Given the description of an element on the screen output the (x, y) to click on. 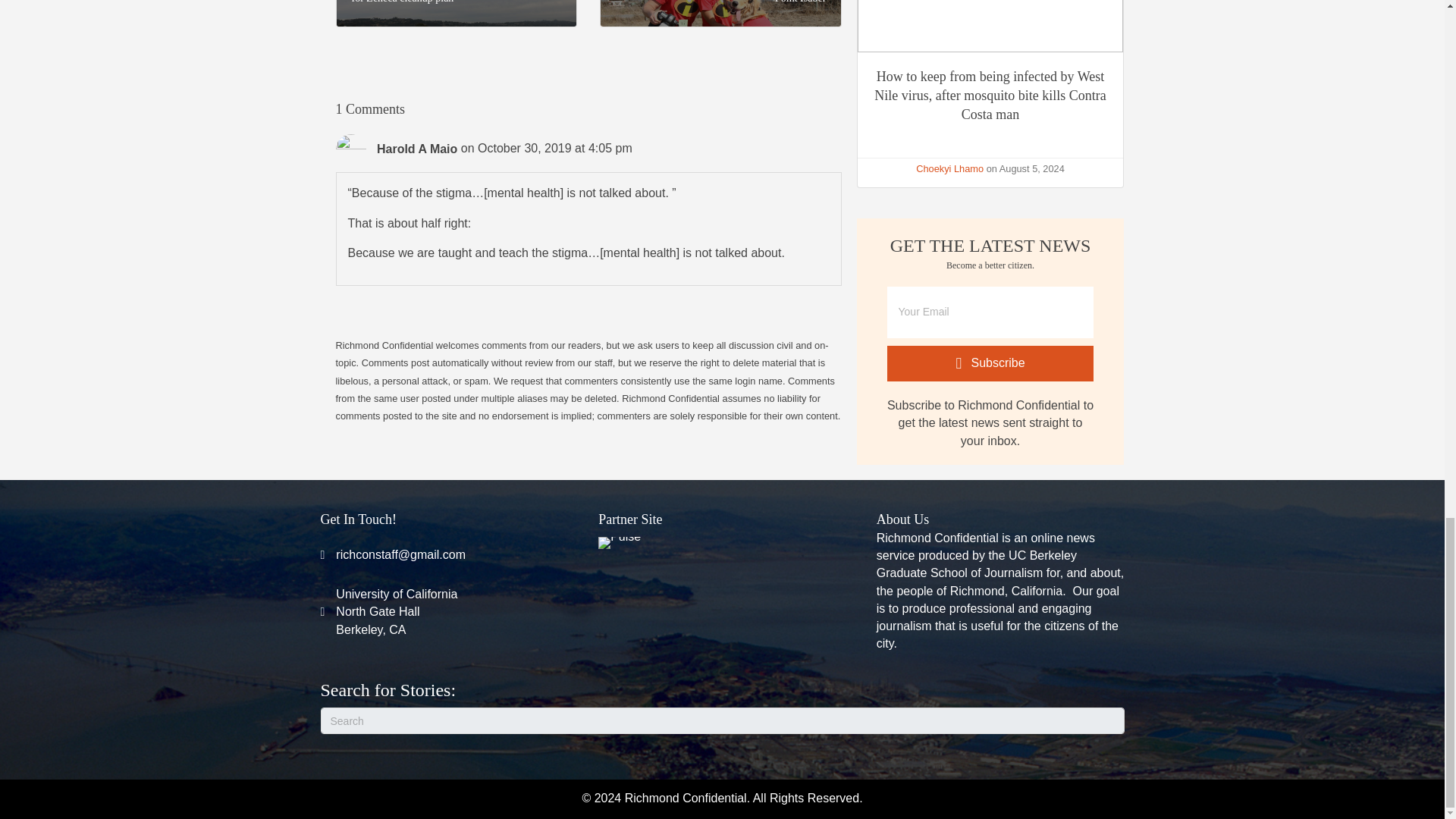
Type and press Enter to search. (722, 720)
Pulse (619, 542)
Click Here (990, 363)
Halloween comes early for Richmonders, dogs at Point Isabel (720, 2)
Choekyi Lhamo (396, 611)
Subscribe (949, 168)
